Given the description of an element on the screen output the (x, y) to click on. 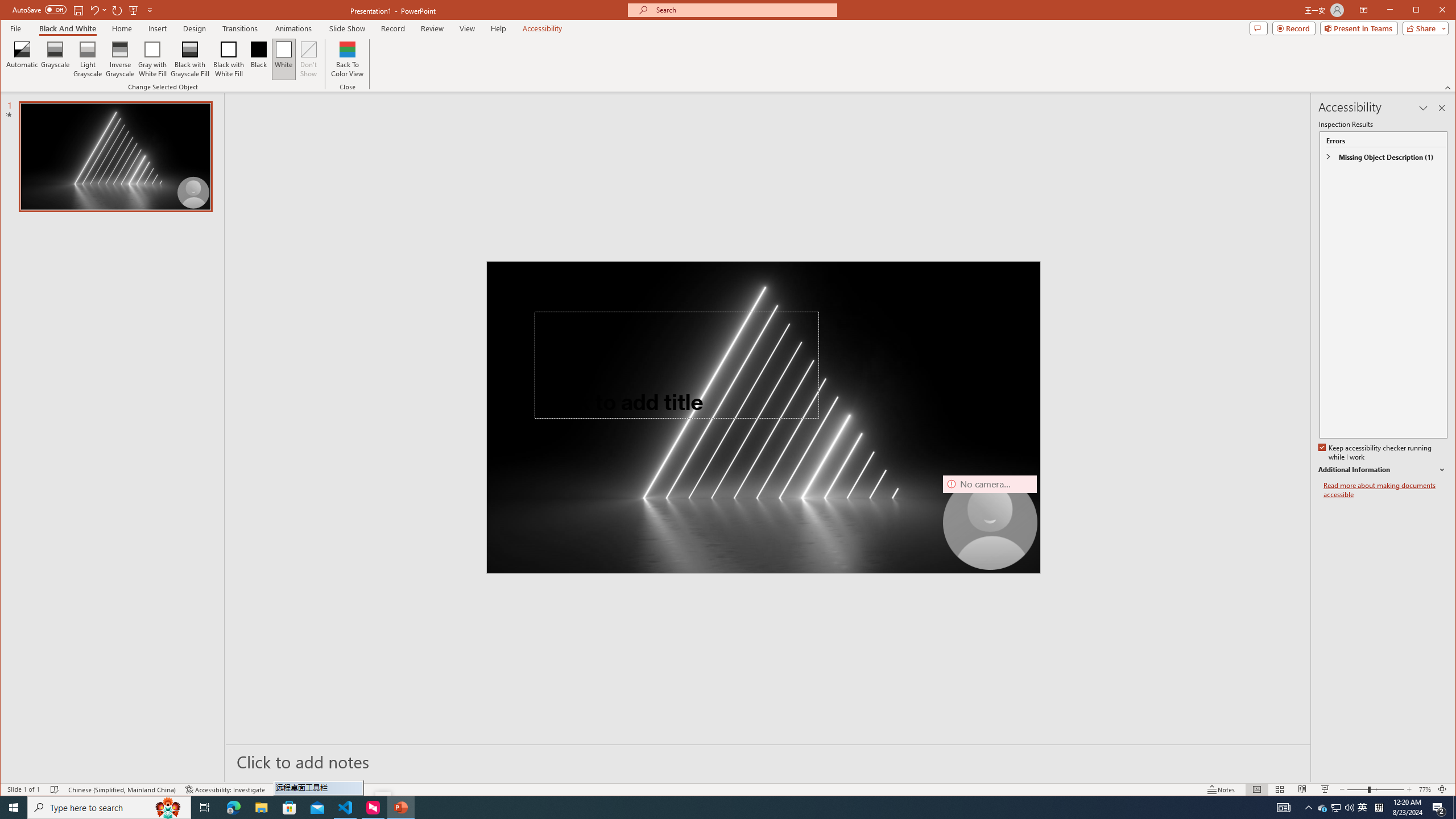
Black (258, 59)
Additional Information (1382, 469)
Inverse Grayscale (119, 59)
Gray with White Fill (152, 59)
